Given the description of an element on the screen output the (x, y) to click on. 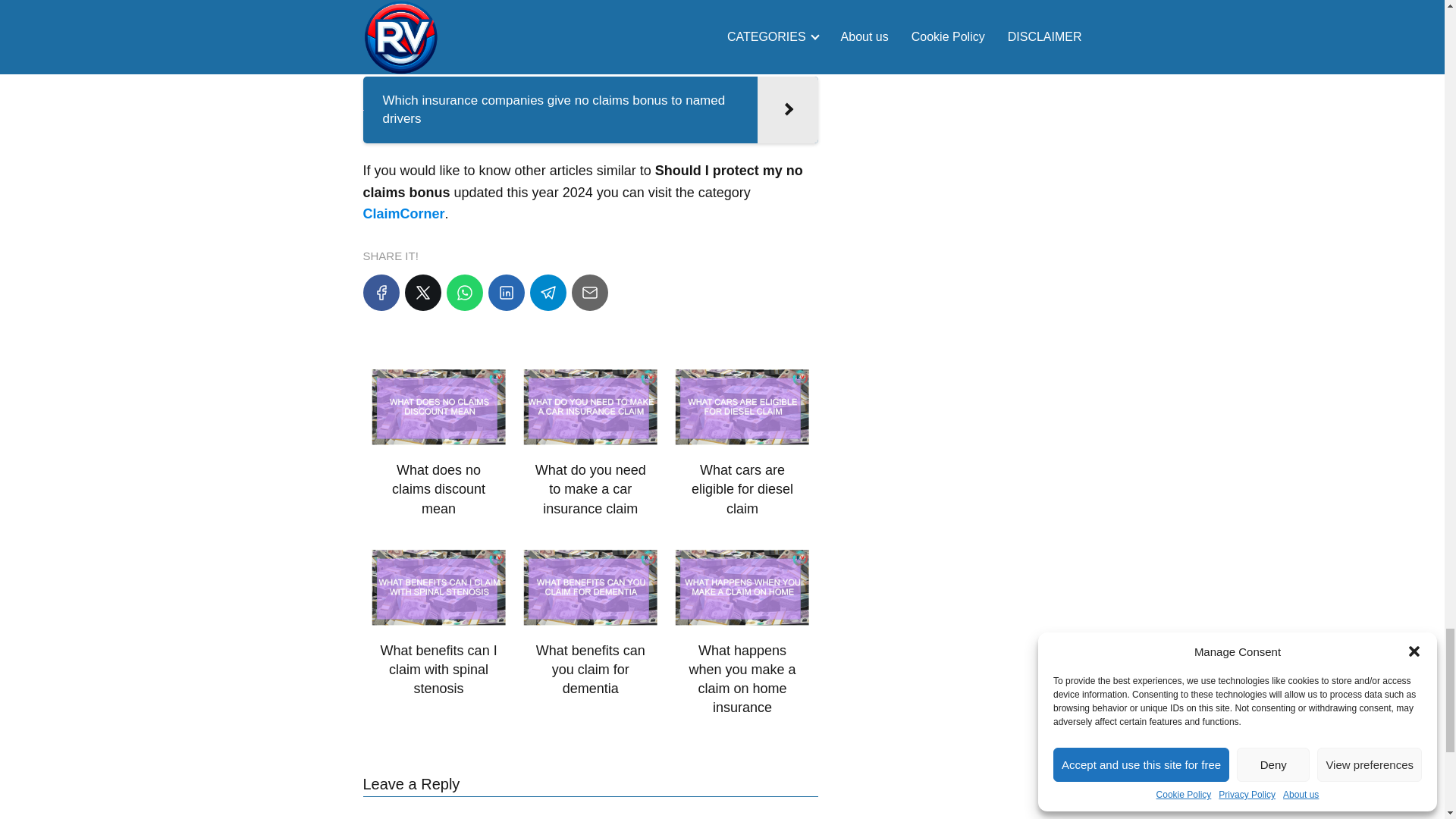
X (422, 292)
LinkedIn (505, 292)
Telegram (547, 292)
WhatsApp (463, 292)
Facebook (380, 292)
